Given the description of an element on the screen output the (x, y) to click on. 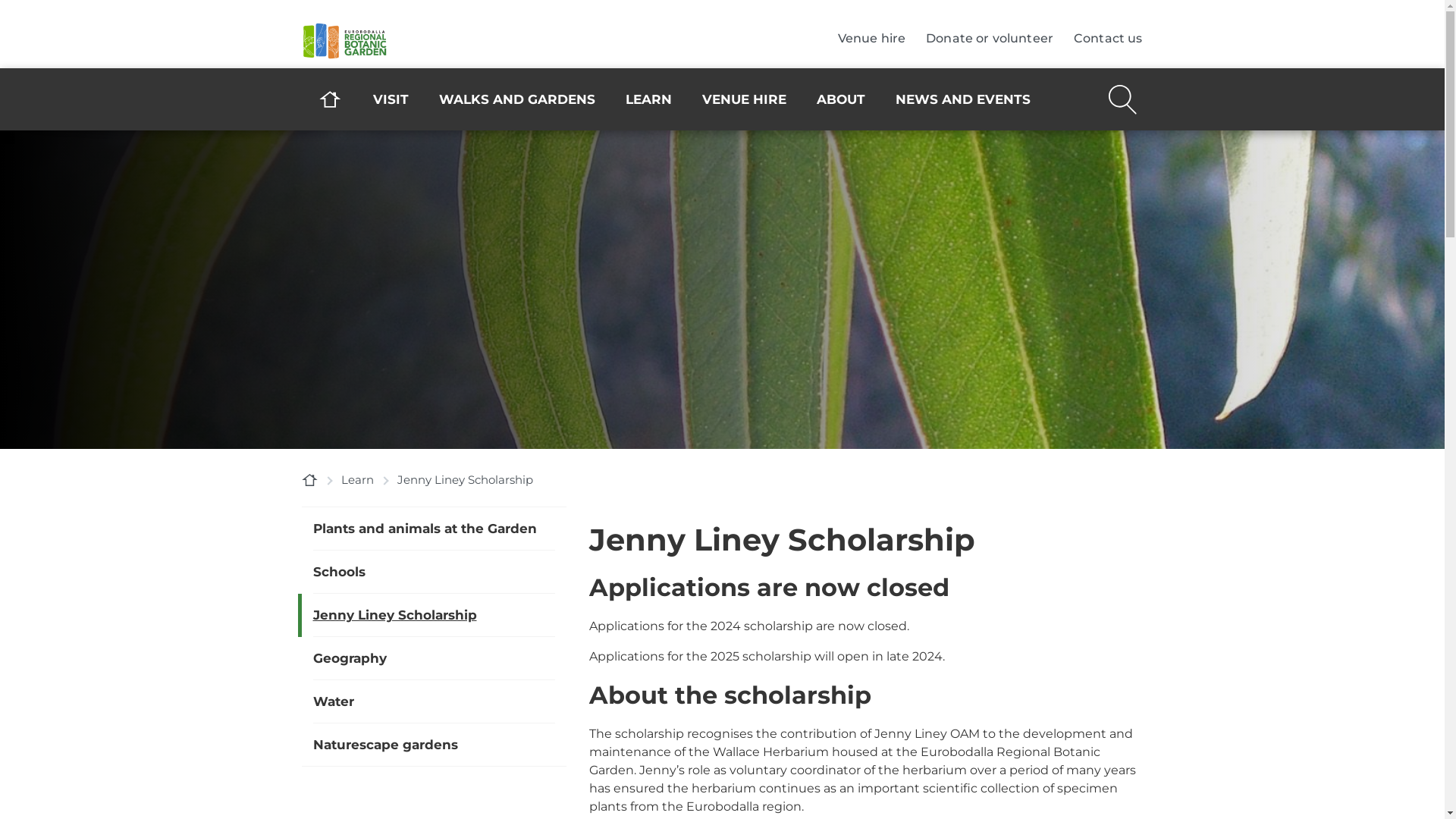
LEARN Element type: text (648, 99)
VISIT Element type: text (390, 99)
NEWS AND EVENTS Element type: text (962, 99)
Open/Close Search Field Element type: text (1122, 97)
VENUE HIRE Element type: text (744, 99)
ABOUT Element type: text (840, 99)
HOME Element type: text (329, 99)
Water Element type: text (433, 701)
Learn Element type: text (357, 479)
Donate or volunteer Element type: text (989, 38)
Contact us Element type: text (1107, 38)
Plants and animals at the Garden Element type: text (433, 528)
Schools Element type: text (433, 571)
WALKS AND GARDENS Element type: text (516, 99)
Site Logo Element type: text (415, 40)
Jenny Liney Scholarship Element type: text (433, 614)
Home Page Element type: text (309, 479)
Naturescape gardens Element type: text (433, 744)
Geography Element type: text (433, 658)
Venue hire Element type: text (871, 38)
